Given the description of an element on the screen output the (x, y) to click on. 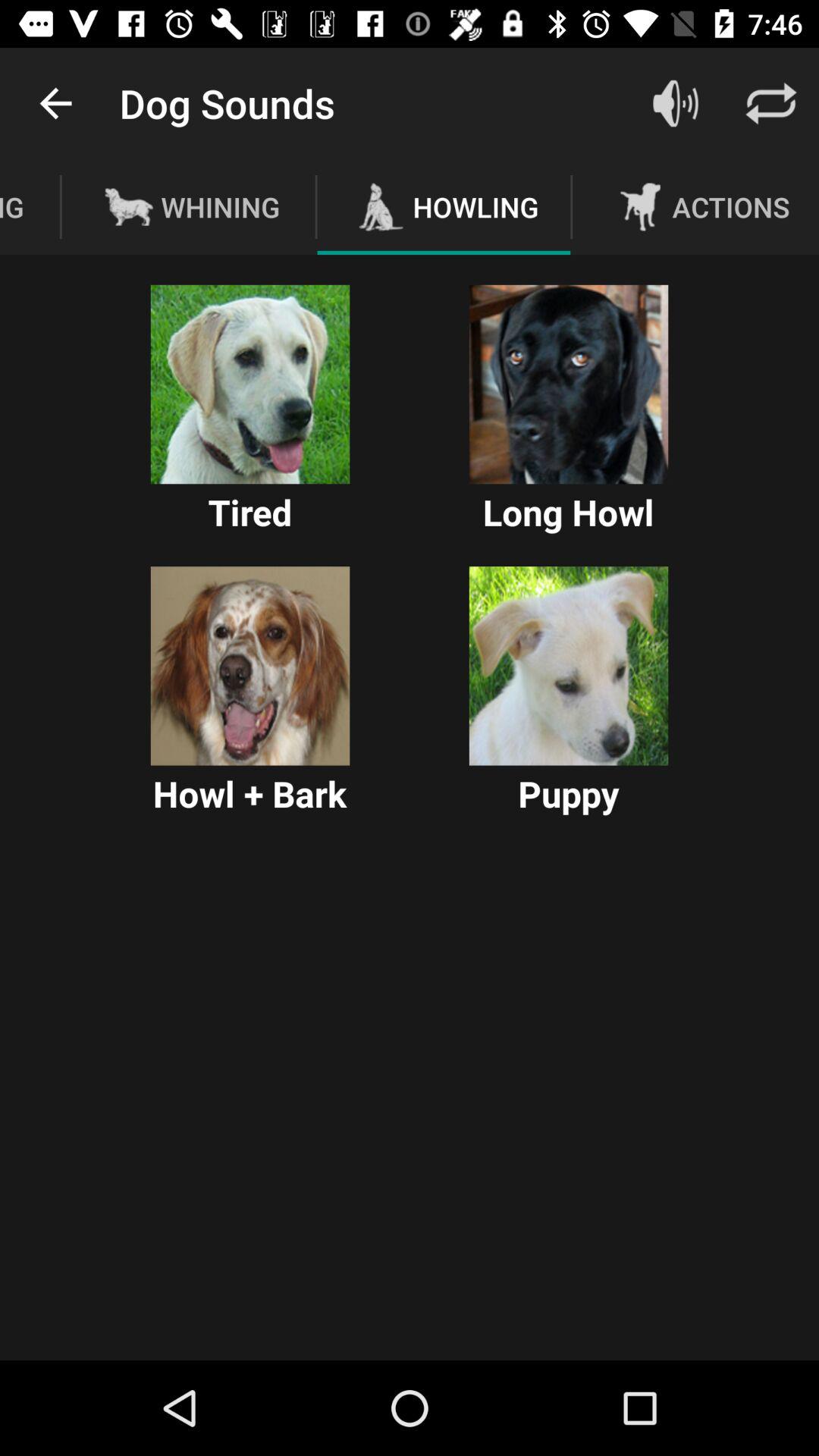
play tired dog sound (249, 384)
